Given the description of an element on the screen output the (x, y) to click on. 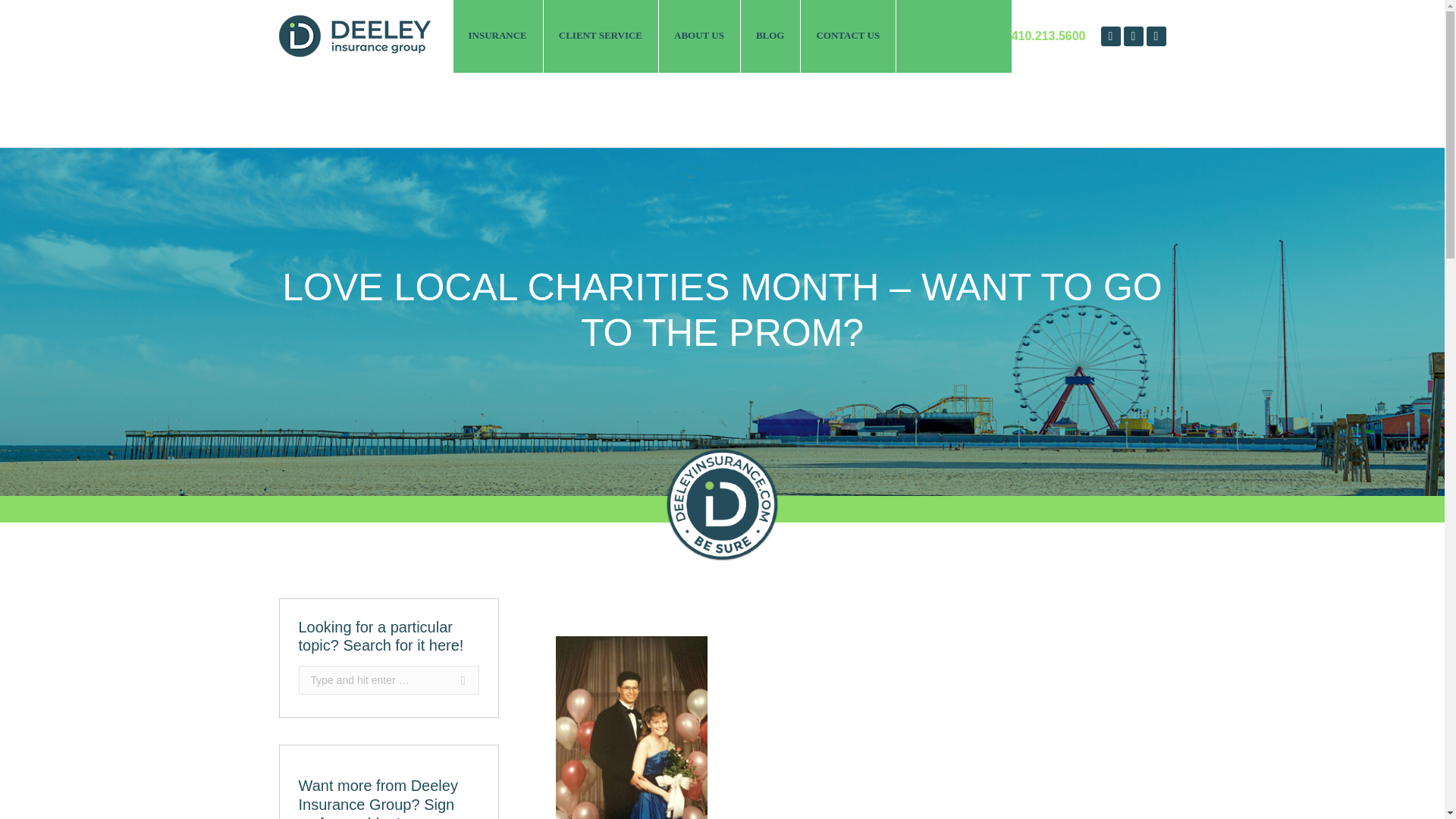
Go! (455, 679)
Facebook page opens in new window (1110, 35)
Linkedin page opens in new window (1133, 35)
Go! (455, 679)
Instagram page opens in new window (1156, 35)
ABOUT US (700, 36)
CLIENT SERVICE (601, 36)
BLOG (771, 36)
INSURANCE (497, 36)
